Given the description of an element on the screen output the (x, y) to click on. 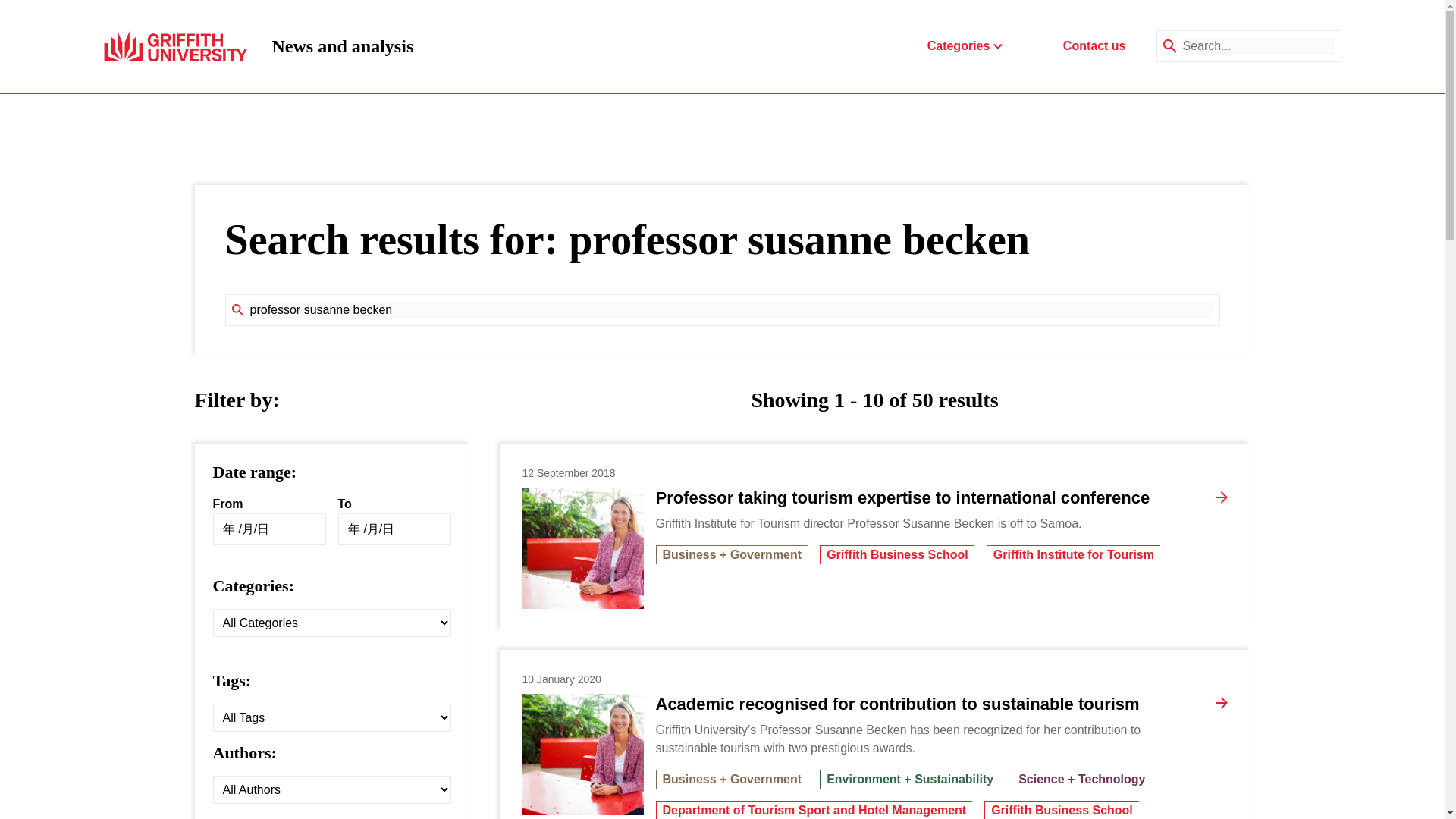
Search for: (731, 310)
Griffith Business School (896, 554)
Contact us (1093, 45)
Academic recognised for contribution to sustainable tourism (896, 703)
professor susanne becken (731, 310)
Griffith Institute for Tourism (341, 46)
